Given the description of an element on the screen output the (x, y) to click on. 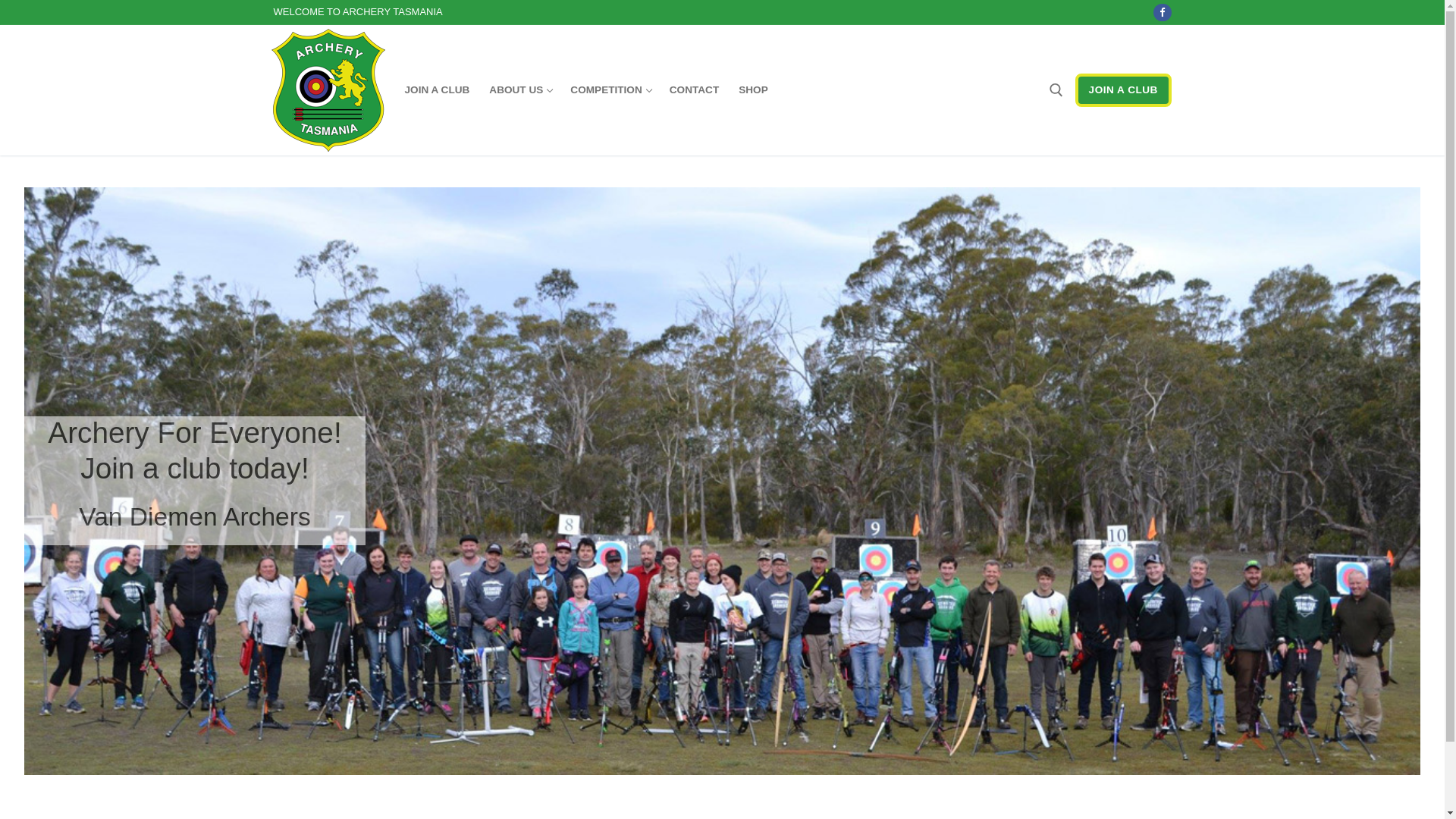
Facebook Element type: hover (1162, 12)
JOIN A CLUB Element type: text (1123, 90)
SHOP Element type: text (753, 89)
ABOUT US
  Element type: text (519, 89)
COMPETITION
  Element type: text (609, 89)
JOIN A CLUB Element type: text (436, 89)
CONTACT Element type: text (693, 89)
